Given the description of an element on the screen output the (x, y) to click on. 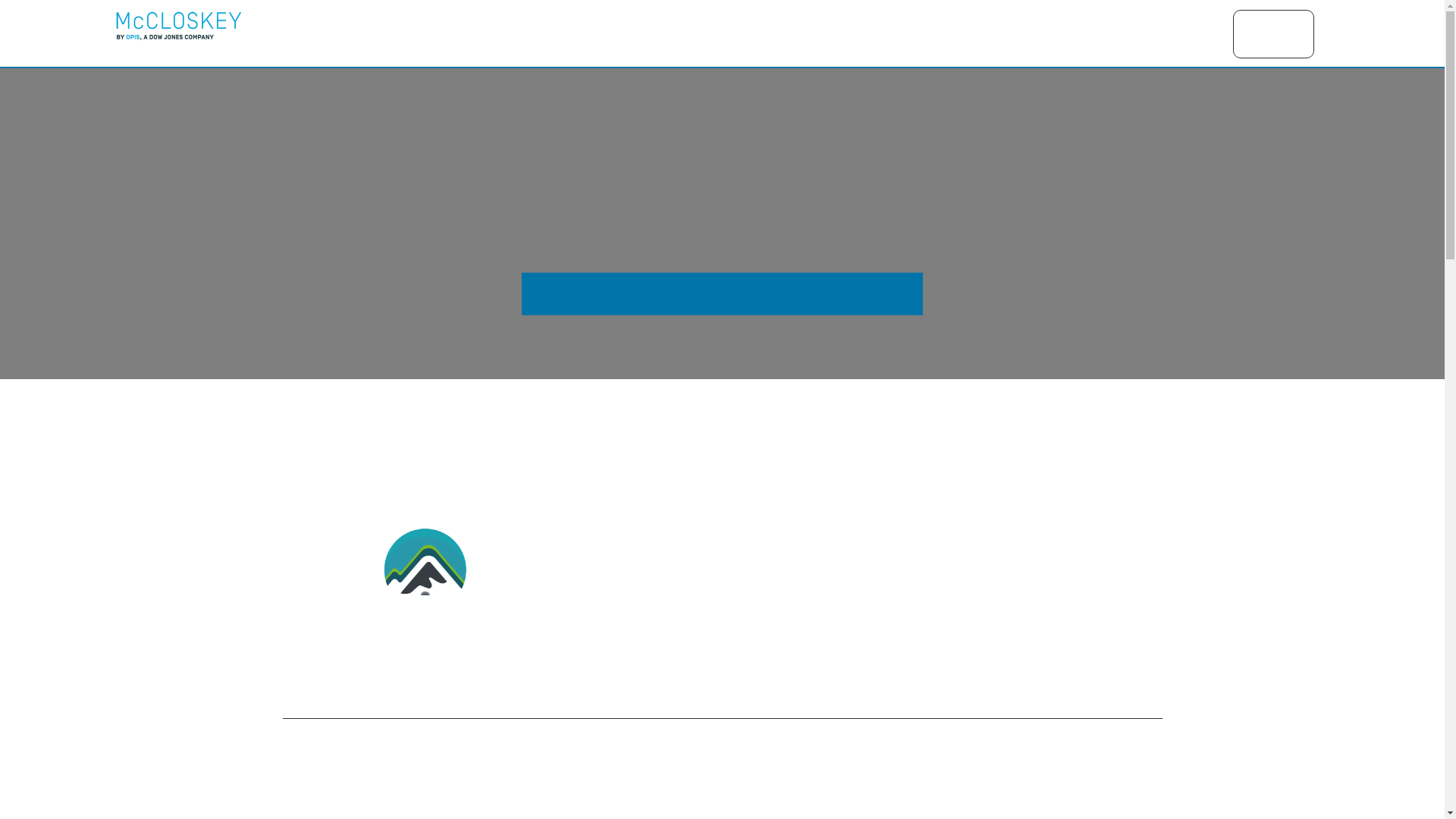
fenalcarbon.org.co (754, 589)
Home (760, 33)
Speakers (1175, 33)
Agenda (829, 33)
Delegates (997, 33)
Register (1273, 33)
VIEW THE 2024 SPONSORSHIP PROSPECTUS (722, 293)
Sponsors (910, 33)
Resources (1087, 33)
